Given the description of an element on the screen output the (x, y) to click on. 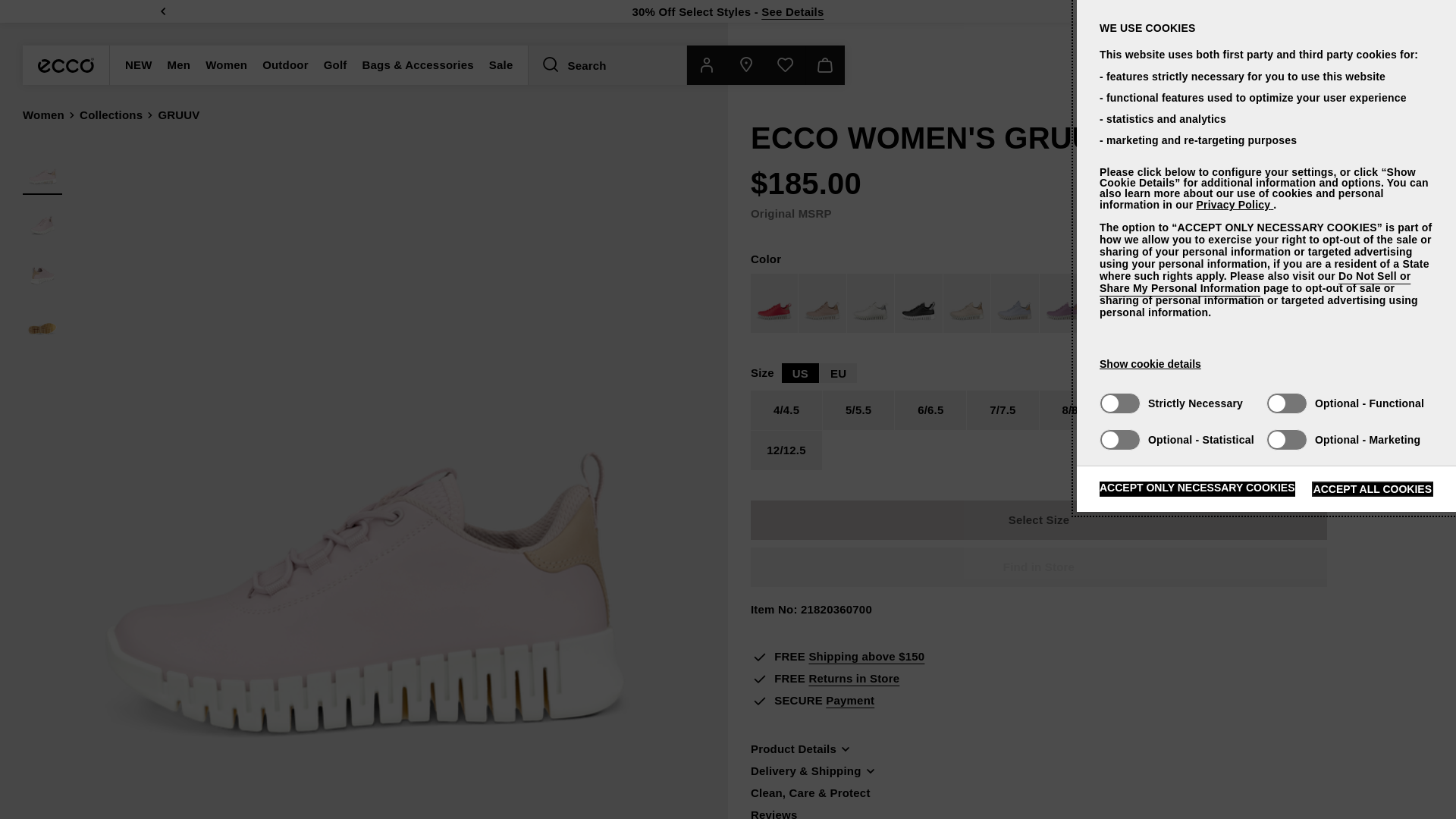
Privacy Policy (1233, 204)
Do Not Sell or Share My Personal Information (1254, 282)
Show cookie details (1150, 363)
